Given the description of an element on the screen output the (x, y) to click on. 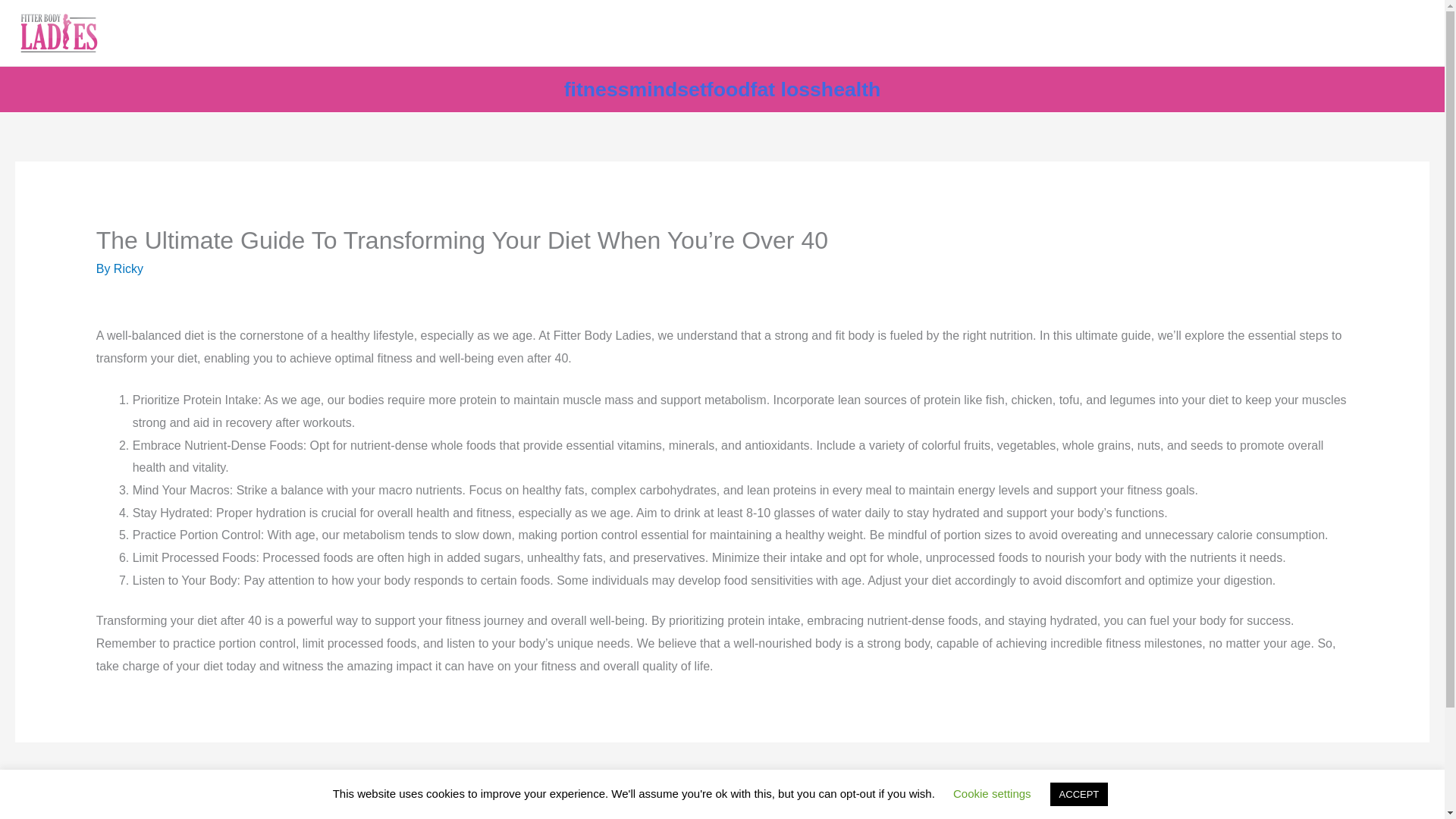
health (850, 88)
ACCEPT (1078, 793)
Cookie settings (991, 793)
fitness (596, 88)
Ricky (127, 268)
View all posts by Ricky (127, 268)
food (728, 88)
fat loss (786, 88)
mindset (667, 88)
